Given the description of an element on the screen output the (x, y) to click on. 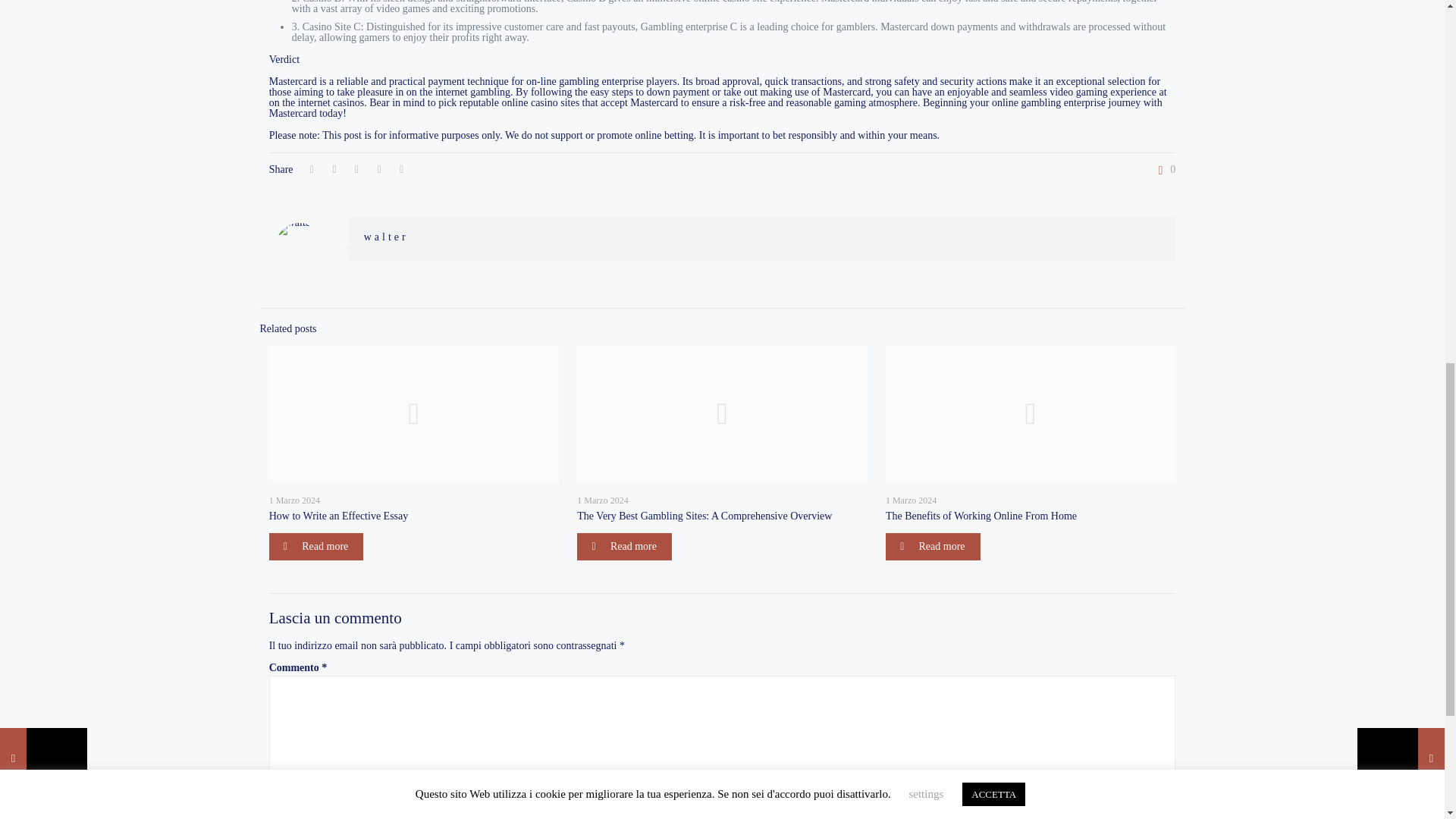
Read more (623, 546)
walter (386, 236)
Read more (316, 546)
Read more (932, 546)
0 (1162, 169)
How to Write an Effective Essay (339, 515)
The Benefits of Working Online From Home (981, 515)
The Very Best Gambling Sites: A Comprehensive Overview (703, 515)
